Given the description of an element on the screen output the (x, y) to click on. 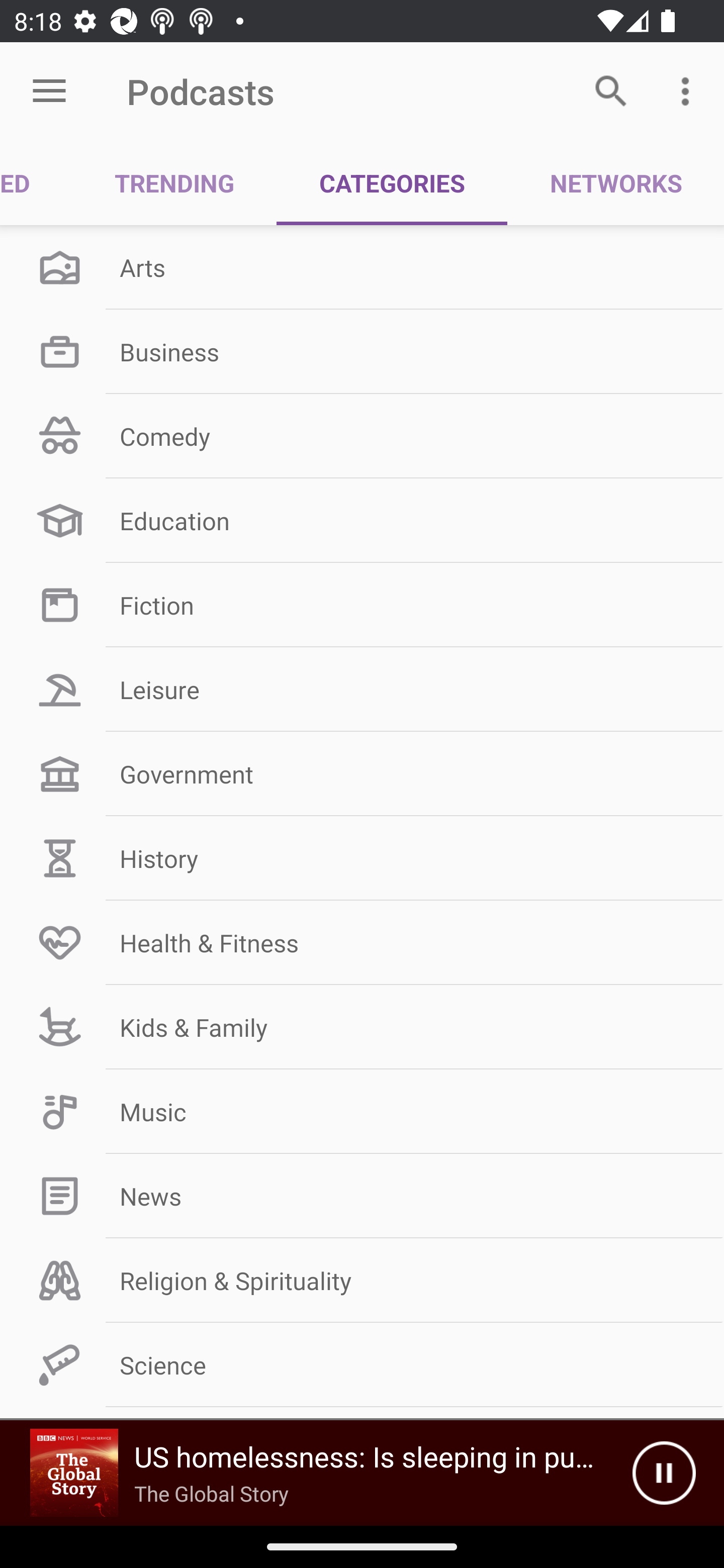
Open menu (49, 91)
Search (611, 90)
More options (688, 90)
TRENDING (174, 183)
CATEGORIES (391, 183)
NETWORKS (615, 183)
Arts (362, 266)
Business (362, 350)
Comedy (362, 435)
Education (362, 520)
Fiction (362, 604)
Leisure (362, 689)
Government (362, 774)
History (362, 858)
Health & Fitness (362, 942)
Kids & Family (362, 1026)
Music (362, 1111)
News (362, 1196)
Religion & Spirituality (362, 1280)
Science (362, 1364)
Pause (663, 1472)
